Given the description of an element on the screen output the (x, y) to click on. 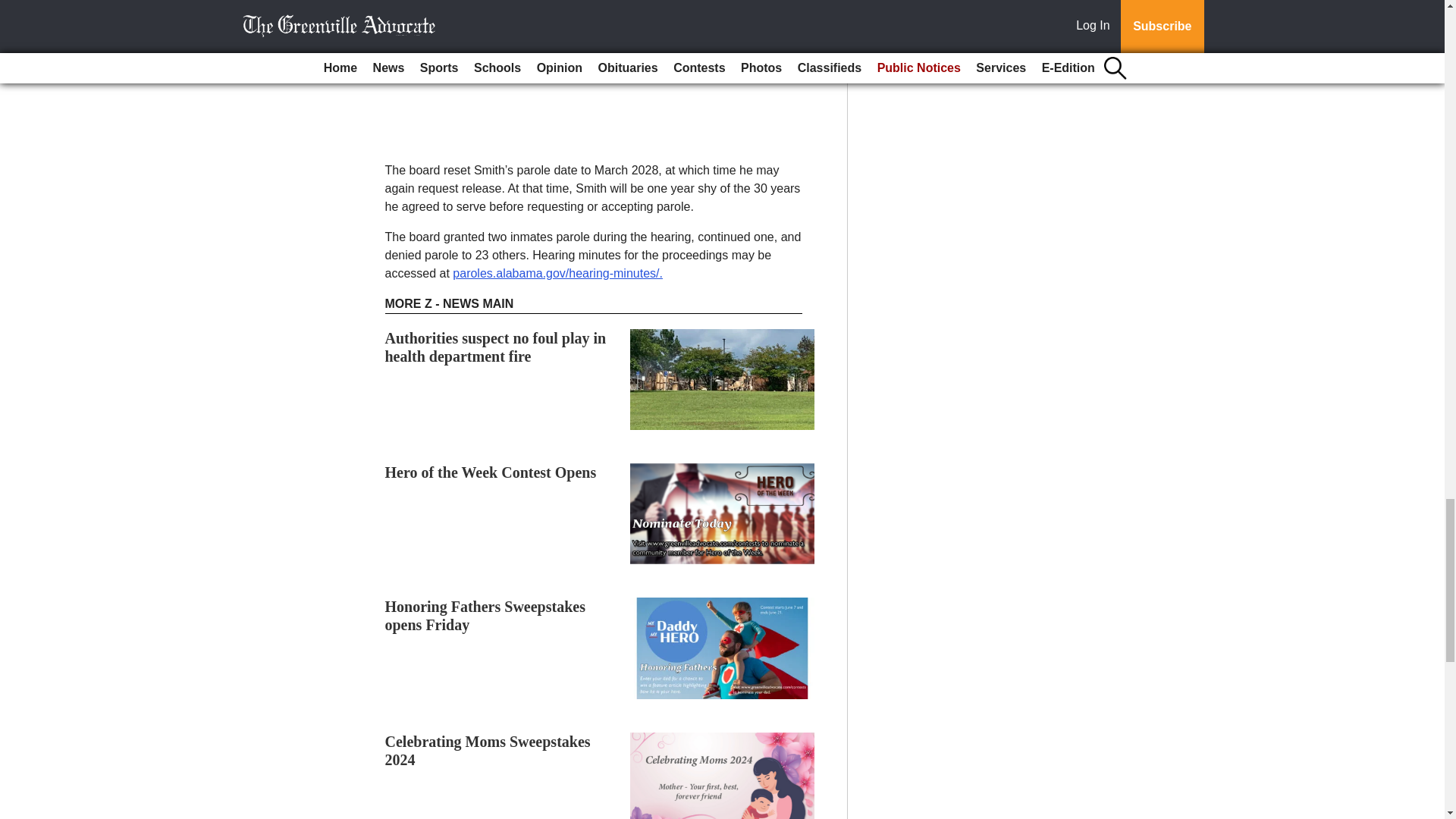
Celebrating Moms Sweepstakes 2024 (488, 750)
Hero of the Week Contest Opens (490, 472)
Celebrating Moms Sweepstakes 2024 (488, 750)
Honoring Fathers Sweepstakes opens Friday (485, 615)
Hero of the Week Contest Opens (490, 472)
Honoring Fathers Sweepstakes opens Friday (485, 615)
Authorities suspect no foul play in health department fire (496, 347)
Authorities suspect no foul play in health department fire (496, 347)
